Given the description of an element on the screen output the (x, y) to click on. 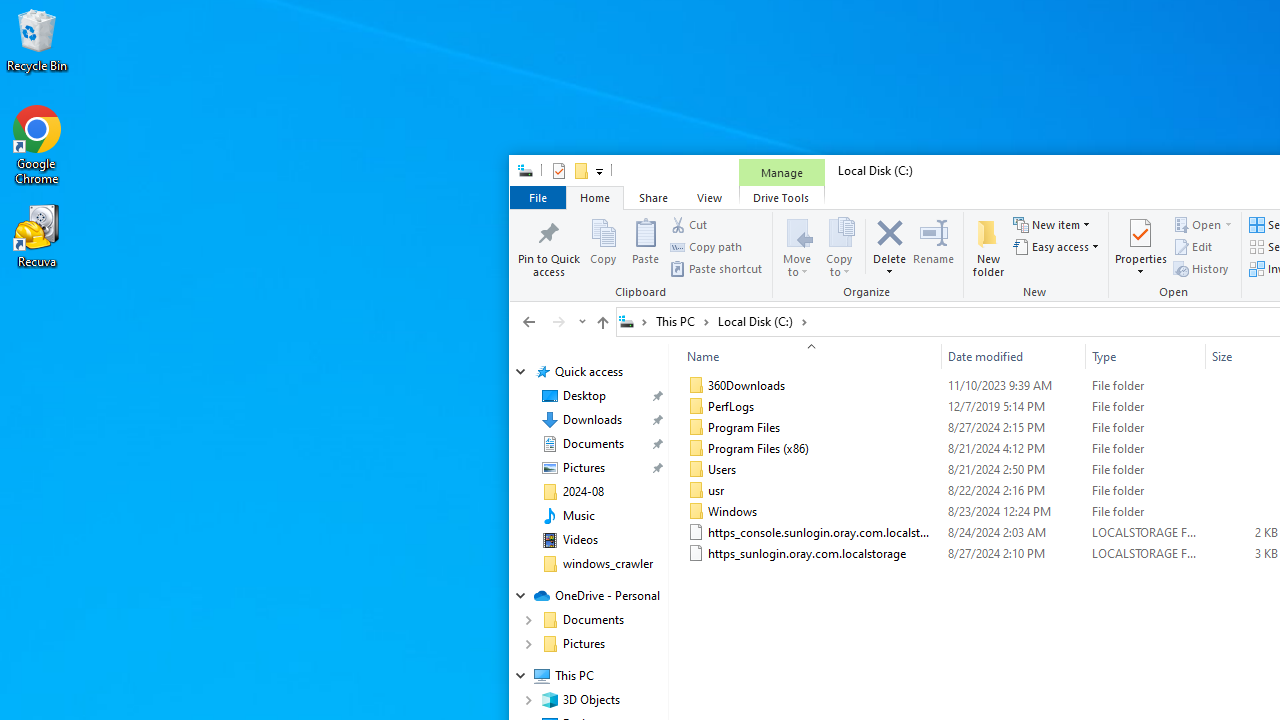
Up to "This PC" (Alt + Up Arrow) (602, 322)
New item (1051, 224)
Copy (603, 246)
Type (1145, 356)
Up band toolbar (602, 325)
Move to (797, 246)
Rename (934, 246)
Customize Quick Access Toolbar (598, 170)
Downloads (pinned) (592, 420)
Forward (Alt + Right Arrow) (558, 321)
Quick Access Toolbar (569, 170)
Filter dropdown (1197, 356)
New folder (988, 246)
Back to Network (Alt + Left Arrow) (529, 321)
Drive Tools (781, 196)
